Given the description of an element on the screen output the (x, y) to click on. 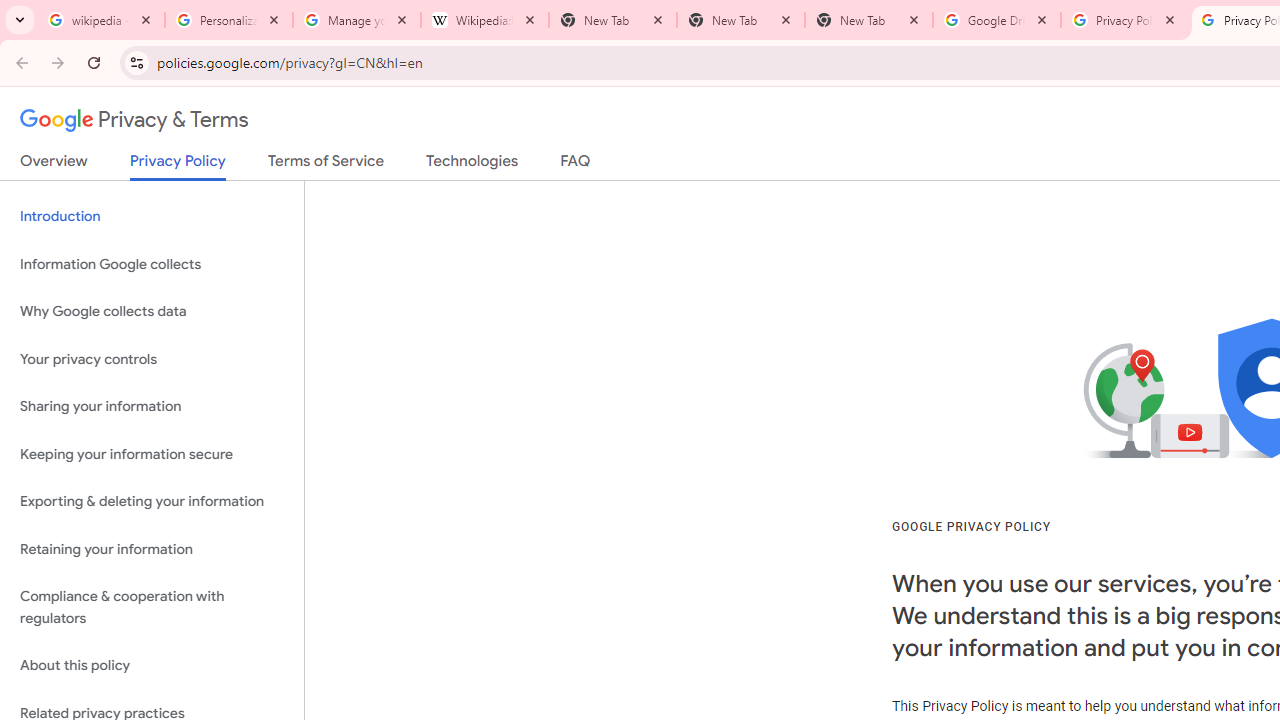
About this policy (152, 666)
Information Google collects (152, 263)
